Given the description of an element on the screen output the (x, y) to click on. 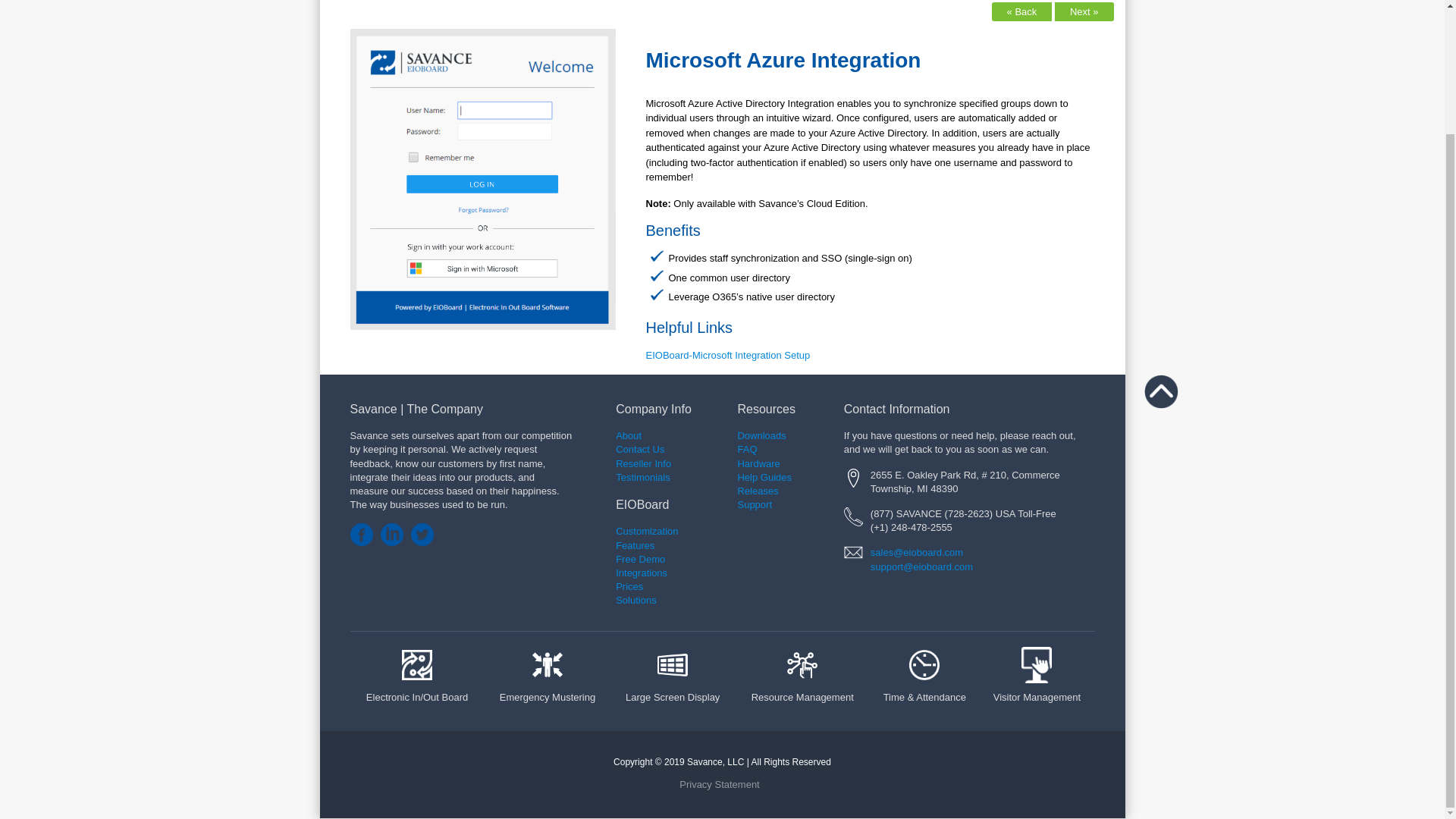
Reseller Info (643, 463)
Integrations (640, 579)
Customization (646, 531)
Contact Us (639, 449)
EIOBoard-Microsoft Integration Setup (728, 355)
Testimonials (642, 477)
Features (646, 552)
About (628, 435)
Prices (629, 586)
Free Demo (640, 565)
